Given the description of an element on the screen output the (x, y) to click on. 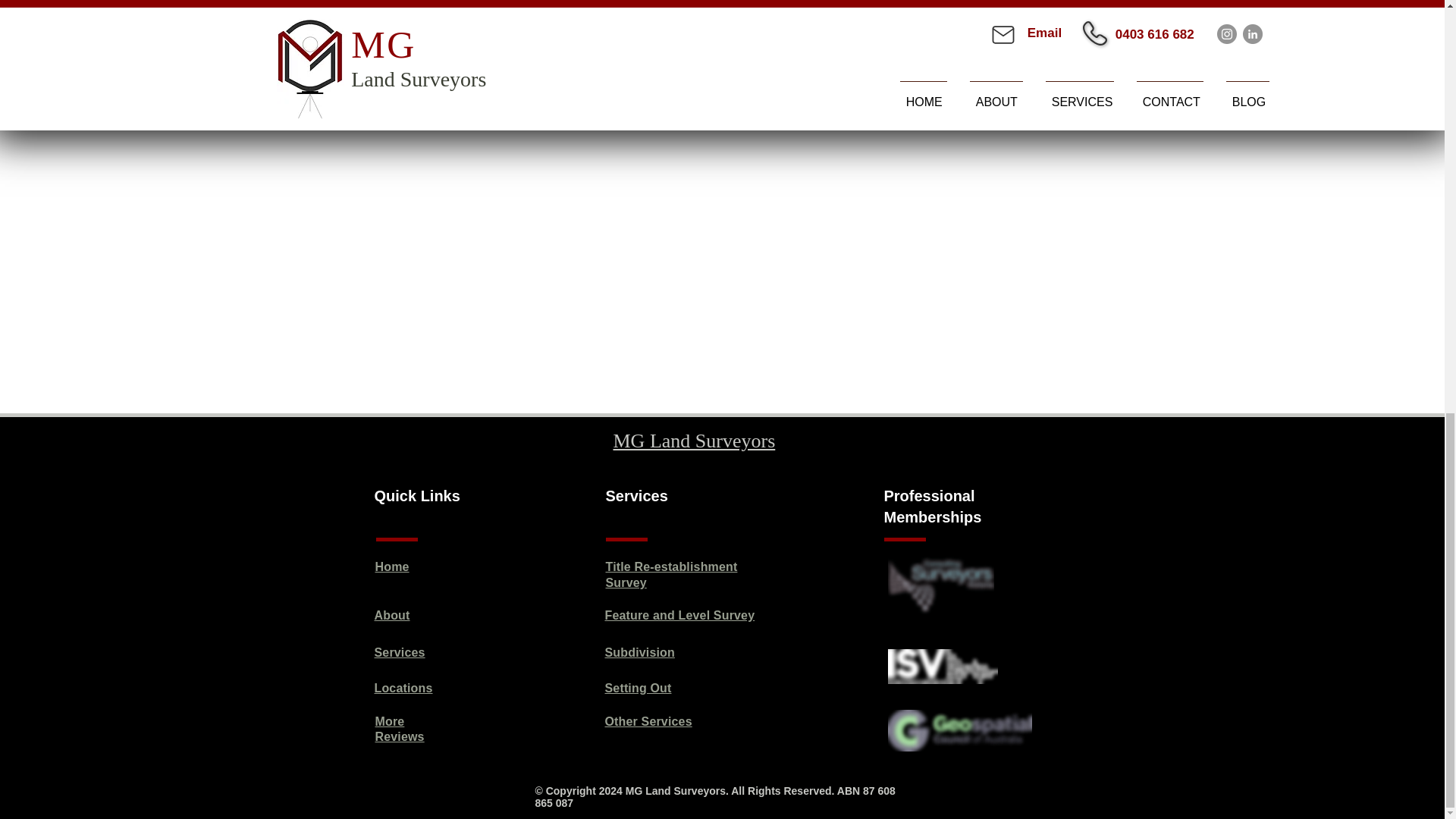
Title Re-establishment Survey (670, 574)
Locations (403, 687)
MG Land Surveyors (693, 440)
Setting Out (638, 687)
Feature and Level Survey (680, 615)
Home (391, 566)
Services (399, 652)
More Reviews (398, 728)
Subdivision (640, 652)
About (392, 615)
Other Services (649, 721)
